Given the description of an element on the screen output the (x, y) to click on. 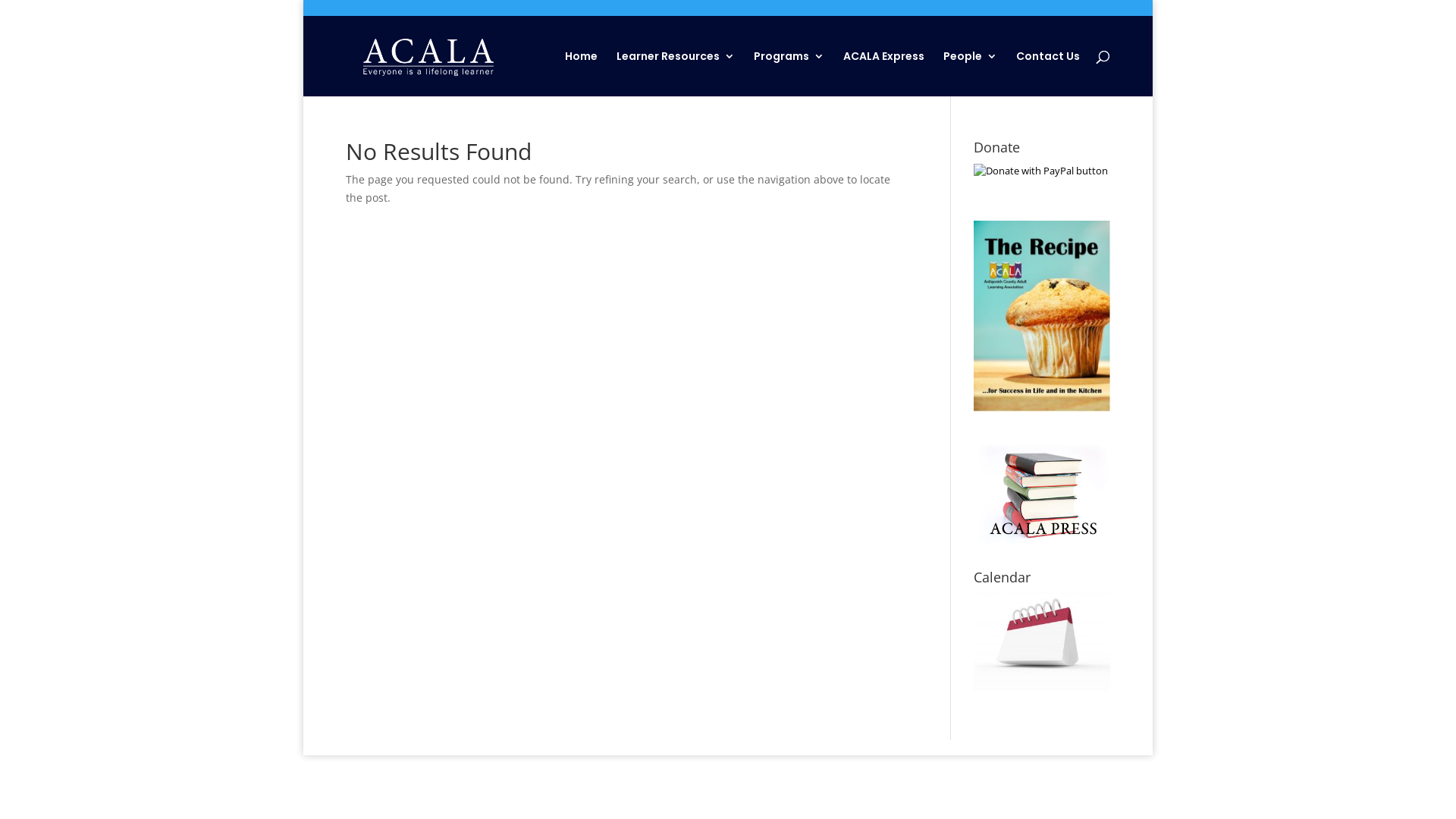
ACALA Express Element type: text (883, 73)
Programs Element type: text (788, 73)
Home Element type: text (580, 73)
PayPal - The safer, easier way to pay online! Element type: hover (1040, 170)
Learner Resources Element type: text (675, 73)
ACALA Cookbook Element type: hover (1041, 316)
Contact Us Element type: text (1047, 73)
People Element type: text (970, 73)
